Given the description of an element on the screen output the (x, y) to click on. 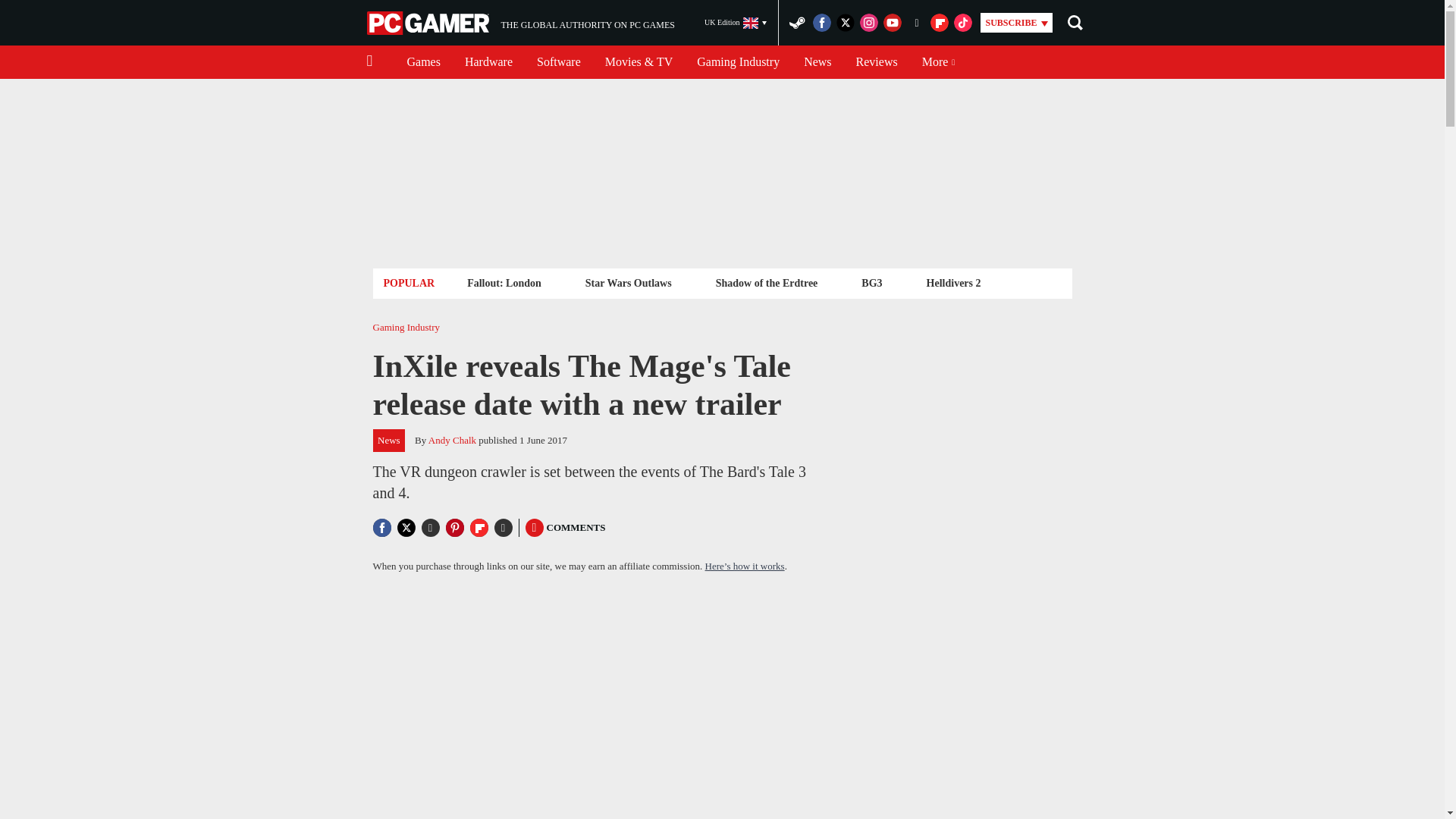
Reviews (877, 61)
Star Wars Outlaws (628, 282)
UK Edition (735, 22)
News (817, 61)
Gaming Industry (738, 61)
PC Gamer (429, 22)
Hardware (488, 61)
Games (520, 22)
Software (422, 61)
